Given the description of an element on the screen output the (x, y) to click on. 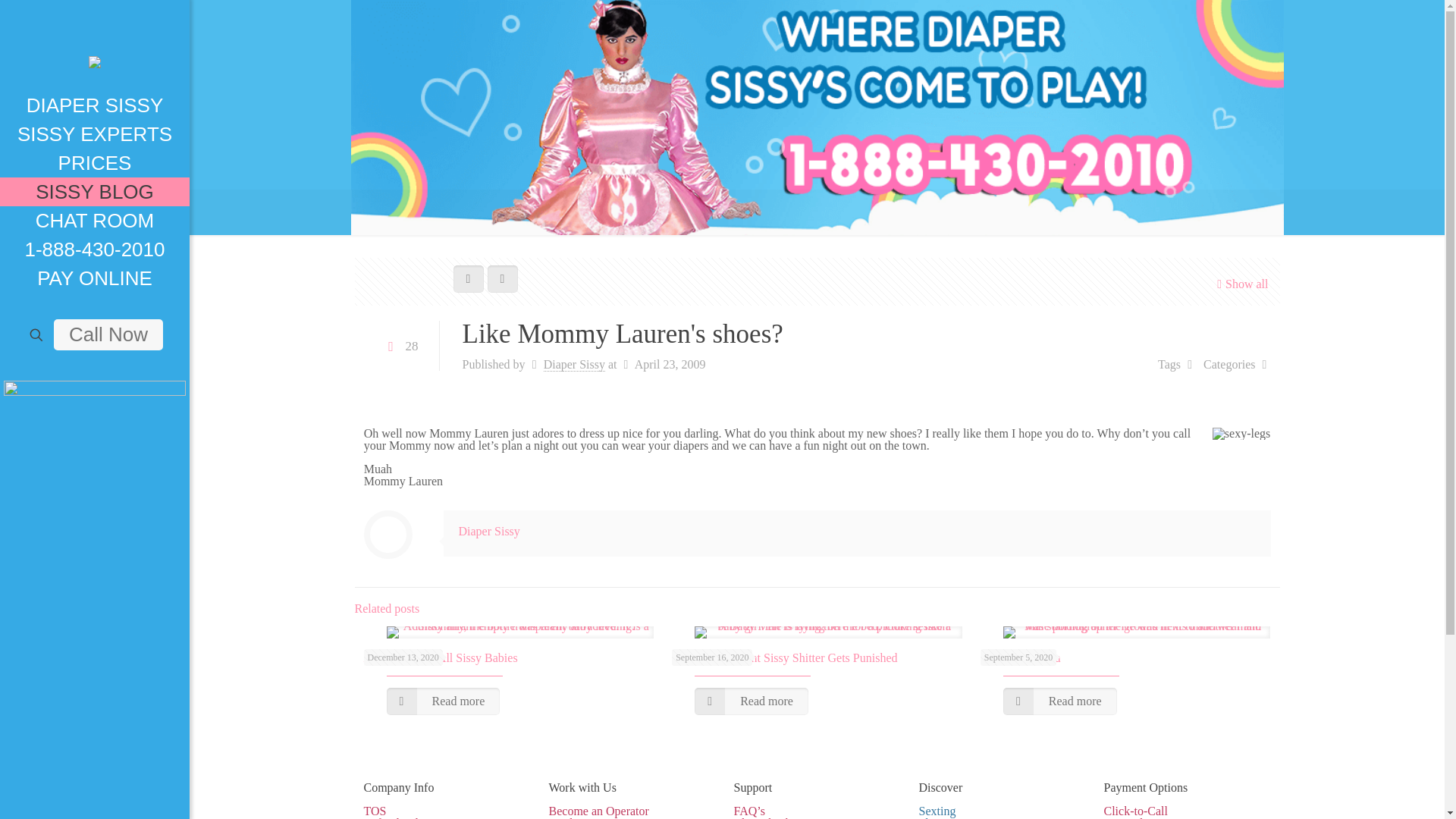
DIAPER SISSY (94, 104)
Diaper Sissy (94, 45)
SISSY EXPERTS (94, 133)
Diaper Sissy (574, 364)
PRICES (94, 162)
CHAT ROOM (94, 220)
SISSY BLOG (94, 191)
1-888-430-2010 (94, 249)
28 (400, 345)
Call Now (108, 334)
